Given the description of an element on the screen output the (x, y) to click on. 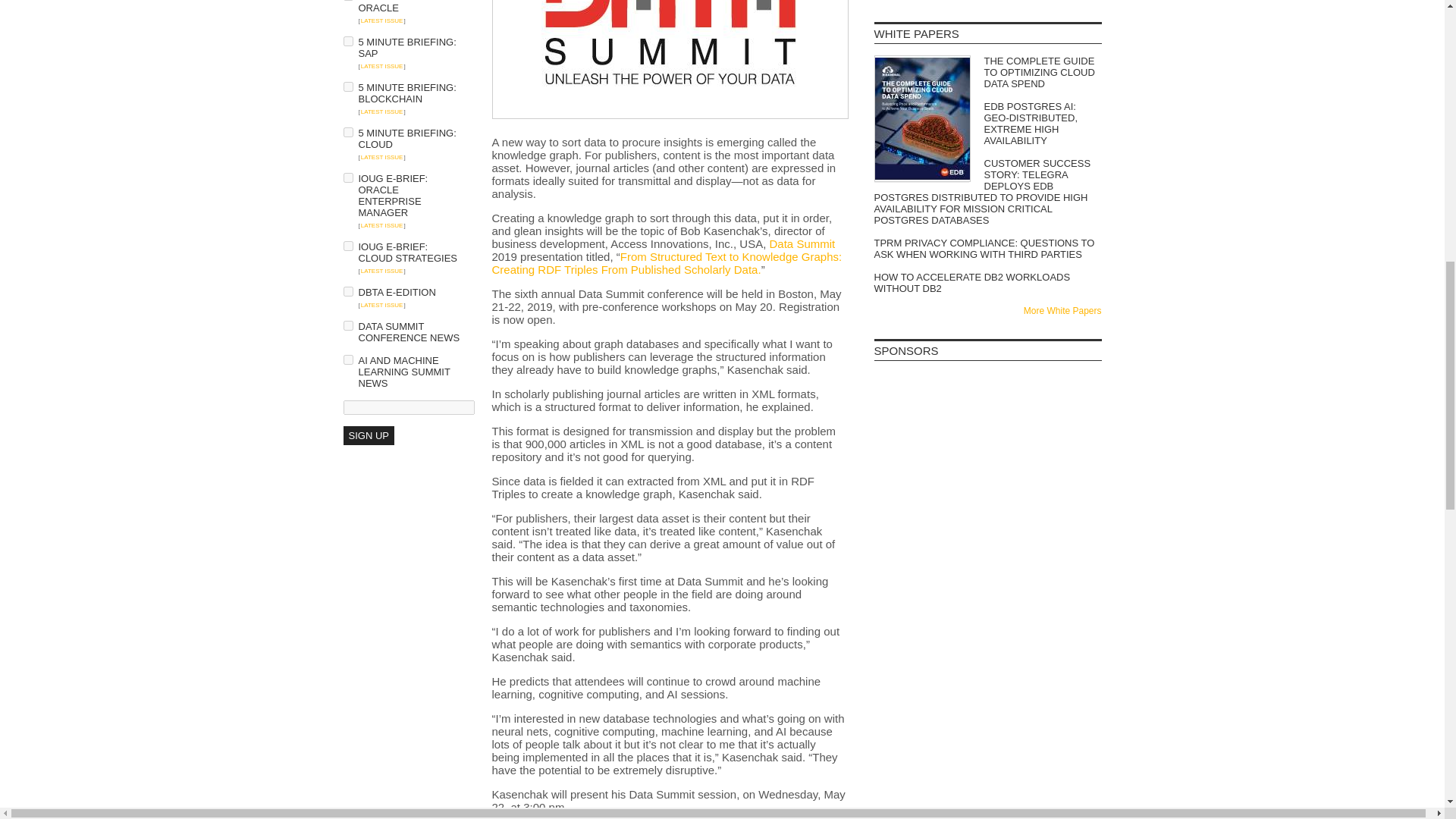
on (347, 86)
on (347, 132)
3rd party ad content (986, 591)
on (347, 325)
How to Accelerate DB2 Workloads Without DB2 (986, 282)
The Complete Guide to Optimizing Cloud Data Spend (986, 72)
on (347, 40)
3rd party ad content (986, 500)
